Given the description of an element on the screen output the (x, y) to click on. 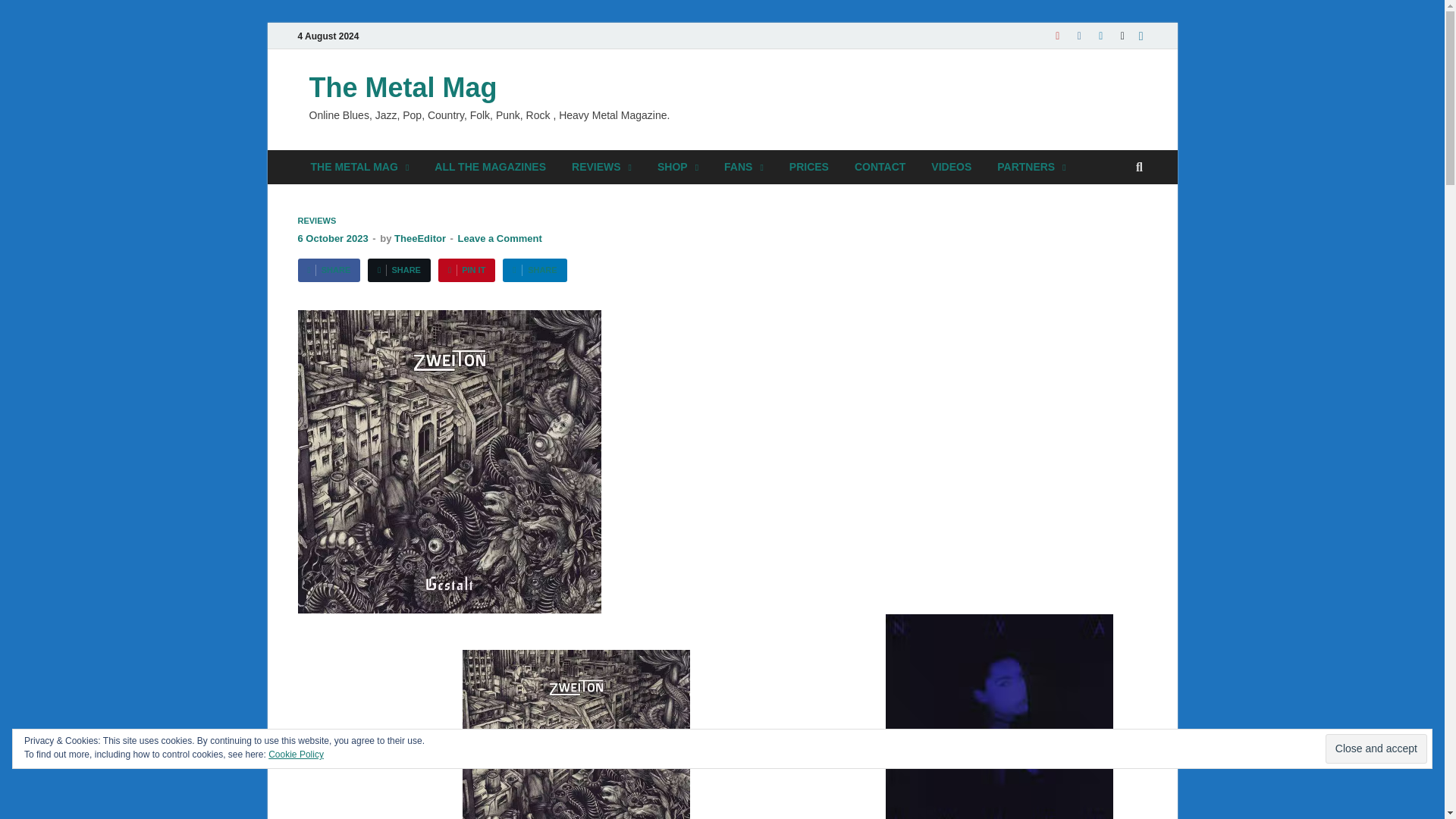
Leave a Comment (499, 238)
VIDEOS (951, 166)
SHARE (534, 269)
The Metal Mag (402, 87)
REVIEWS (602, 166)
REVIEWS (316, 220)
SHARE (399, 269)
6 October 2023 (332, 238)
PIN IT (466, 269)
FANS (743, 166)
